Given the description of an element on the screen output the (x, y) to click on. 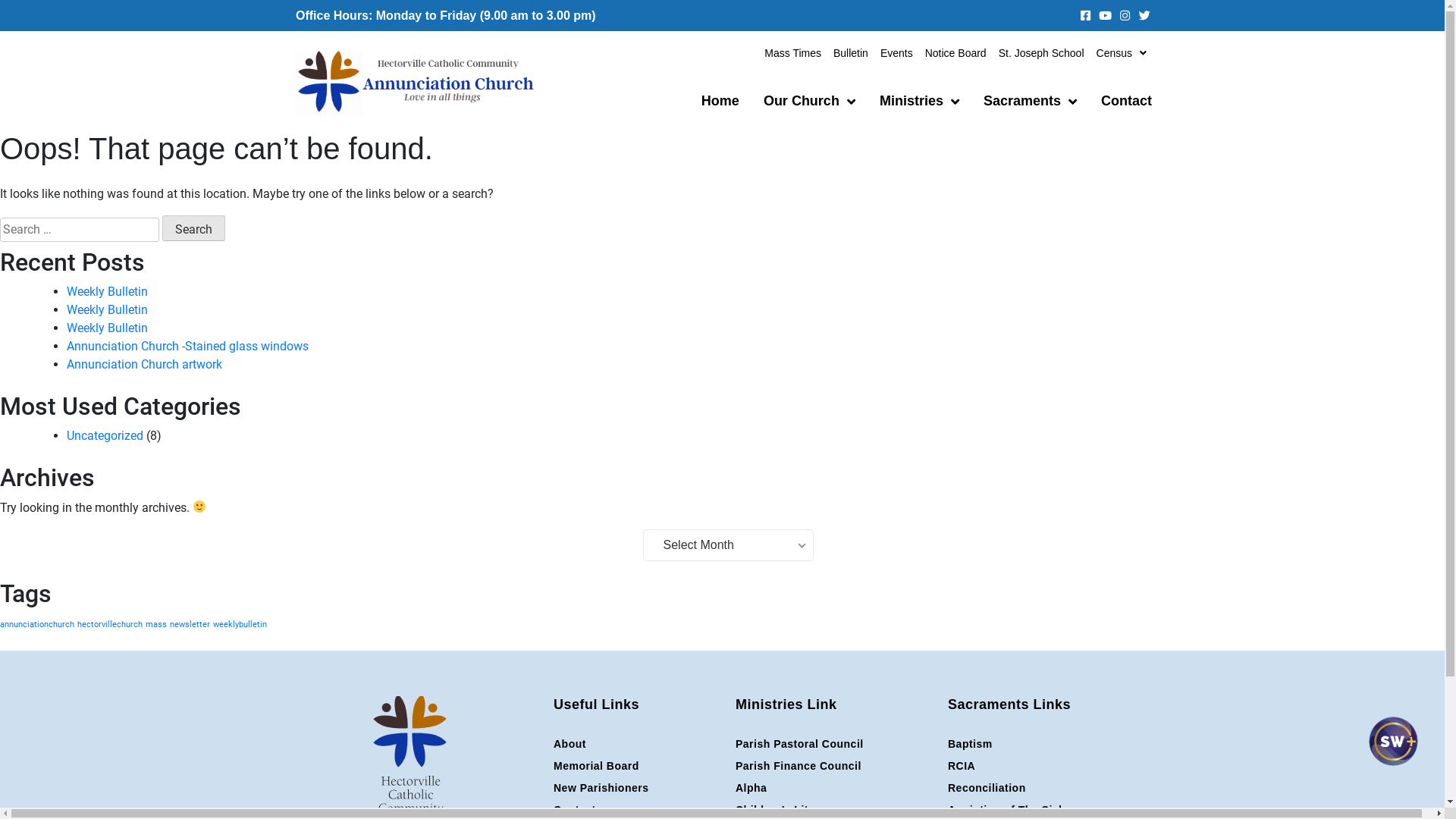
Contact Element type: text (1126, 100)
Parish Pastoral Council Element type: text (833, 744)
Sacraments Element type: text (1029, 100)
Home Element type: text (720, 100)
Annunciation Church -Stained glass windows Element type: text (187, 345)
New Parishioners Element type: text (636, 788)
Reconciliation Element type: text (1046, 788)
Events Element type: text (896, 52)
newsletter Element type: text (189, 624)
annunciationchurch Element type: text (37, 624)
Mass Times Element type: text (792, 52)
Search Element type: text (193, 228)
About Element type: text (636, 744)
Weekly Bulletin Element type: text (106, 309)
Baptism Element type: text (1046, 744)
Ministries Element type: text (919, 100)
St. Joseph School Element type: text (1041, 52)
Parish Finance Council Element type: text (833, 766)
Uncategorized Element type: text (104, 435)
Contact Element type: text (636, 810)
Notice Board Element type: text (955, 52)
Census Element type: text (1121, 52)
mass Element type: text (155, 624)
Bulletin Element type: text (850, 52)
Anointing of The Sick Element type: text (1046, 810)
Alpha Element type: text (833, 788)
RCIA Element type: text (1046, 766)
Weekly Bulletin Element type: text (106, 327)
Annunciation Church artwork Element type: text (144, 364)
SW Plus Element type: hover (1391, 754)
Weekly Bulletin Element type: text (106, 291)
Memorial Board Element type: text (636, 766)
Our Church Element type: text (809, 100)
weeklybulletin Element type: text (239, 624)
hectorvillechurch Element type: text (109, 624)
